Given the description of an element on the screen output the (x, y) to click on. 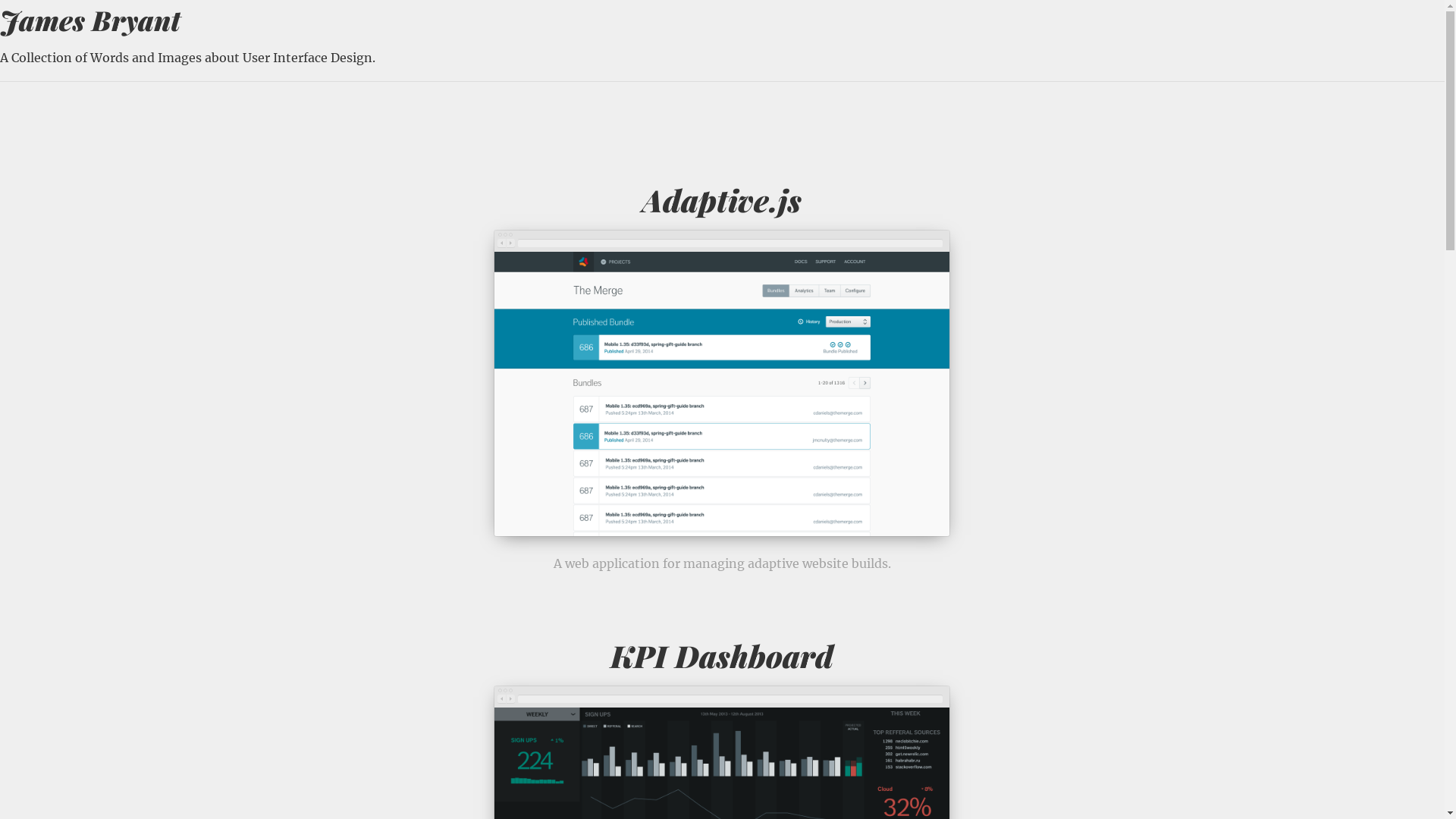
James Bryant Element type: text (90, 19)
